Given the description of an element on the screen output the (x, y) to click on. 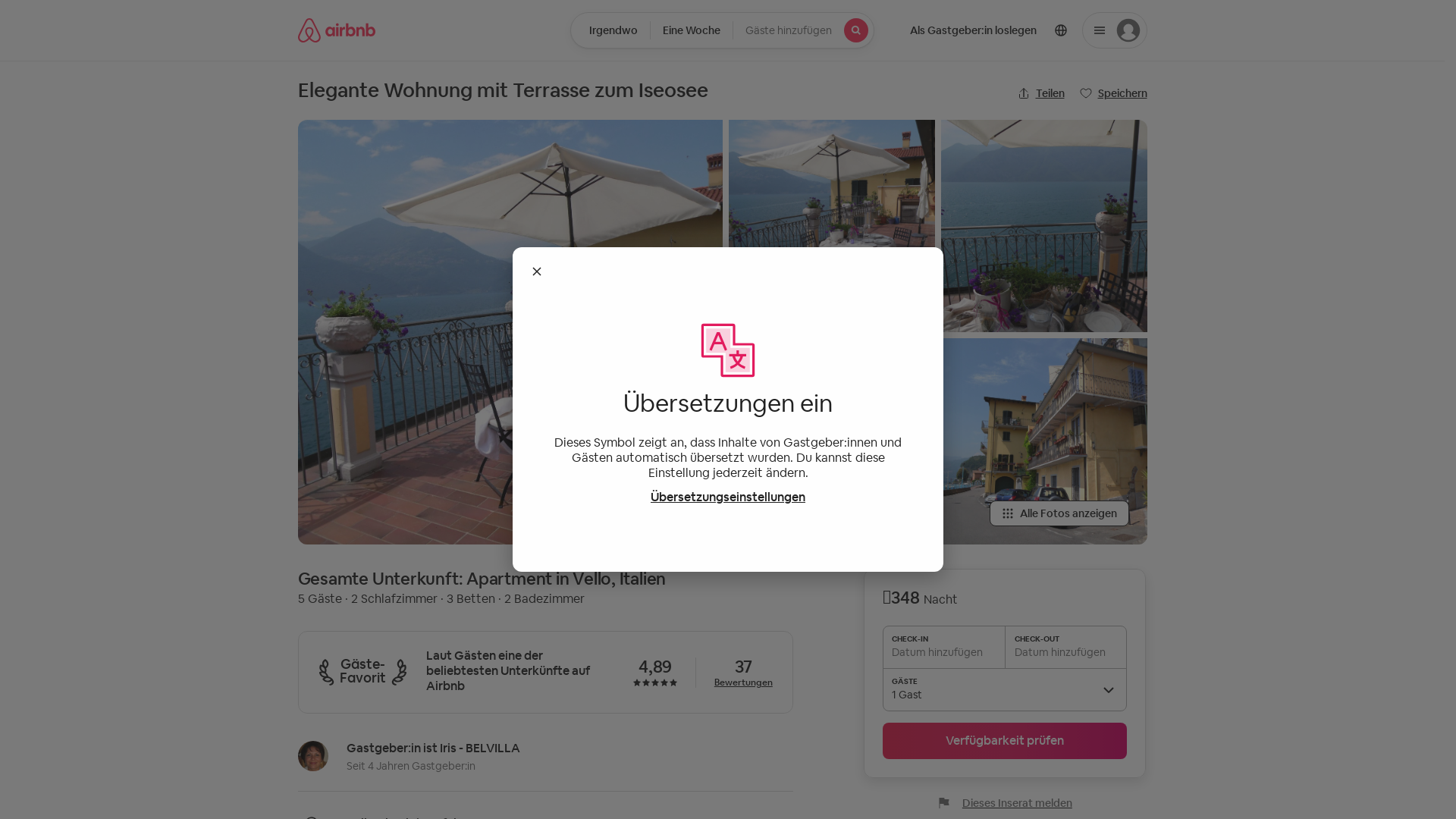
Als Gastgeber:in loslegen Element type: text (972, 30)
Dieses Inserat melden Element type: text (1005, 802)
Ort
Irgendwo Element type: text (610, 30)
Alle Fotos anzeigen Element type: text (1058, 513)
Check-in/Check-out
Eine Woche Element type: text (691, 30)
Speichern Element type: text (1113, 93)
Teilen Element type: text (1040, 93)
